Given the description of an element on the screen output the (x, y) to click on. 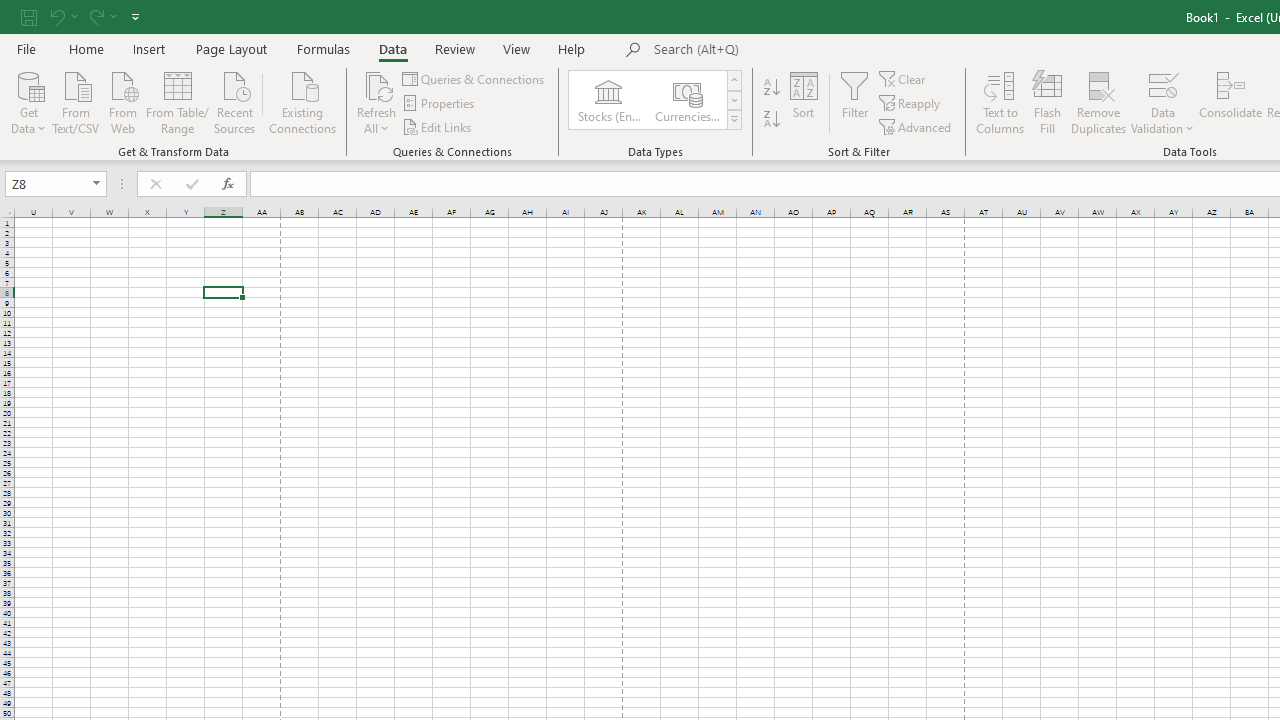
Queries & Connections (474, 78)
Currencies (English) (686, 100)
Sort Z to A (772, 119)
Filter (854, 102)
From Table/Range (177, 101)
Edit Links (438, 126)
Customize Quick Access Toolbar (135, 15)
Existing Connections (303, 101)
Data (392, 48)
Data Validation... (1162, 84)
Text to Columns... (1000, 102)
